Given the description of an element on the screen output the (x, y) to click on. 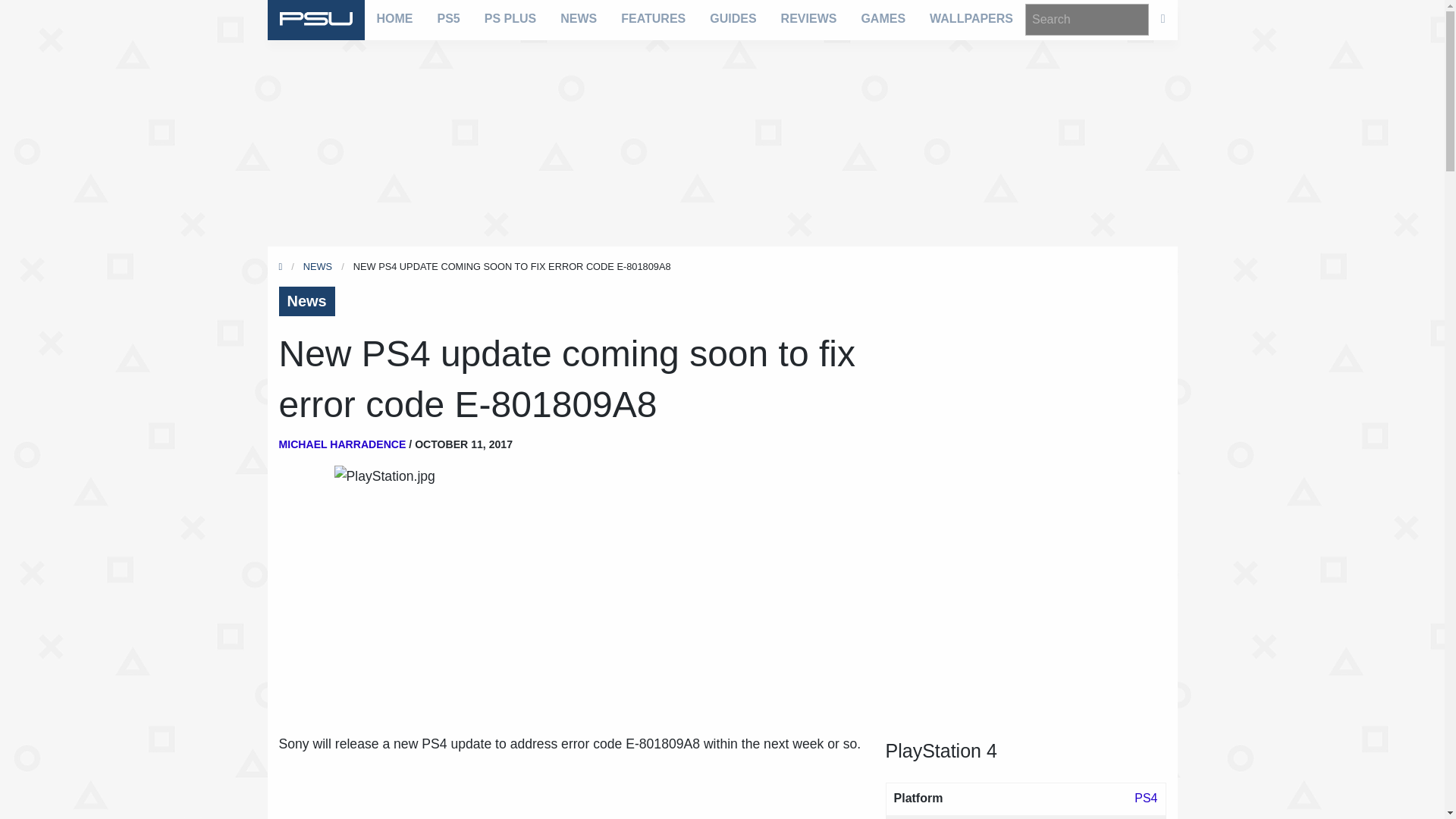
News (306, 301)
NEWS (316, 266)
PS5 (448, 18)
GAMES (882, 18)
HOME (394, 18)
FEATURES (652, 18)
PS PLUS (509, 18)
WALLPAPERS (971, 18)
REVIEWS (808, 18)
MICHAEL HARRADENCE (342, 444)
GUIDES (732, 18)
NEWS (578, 18)
